Given the description of an element on the screen output the (x, y) to click on. 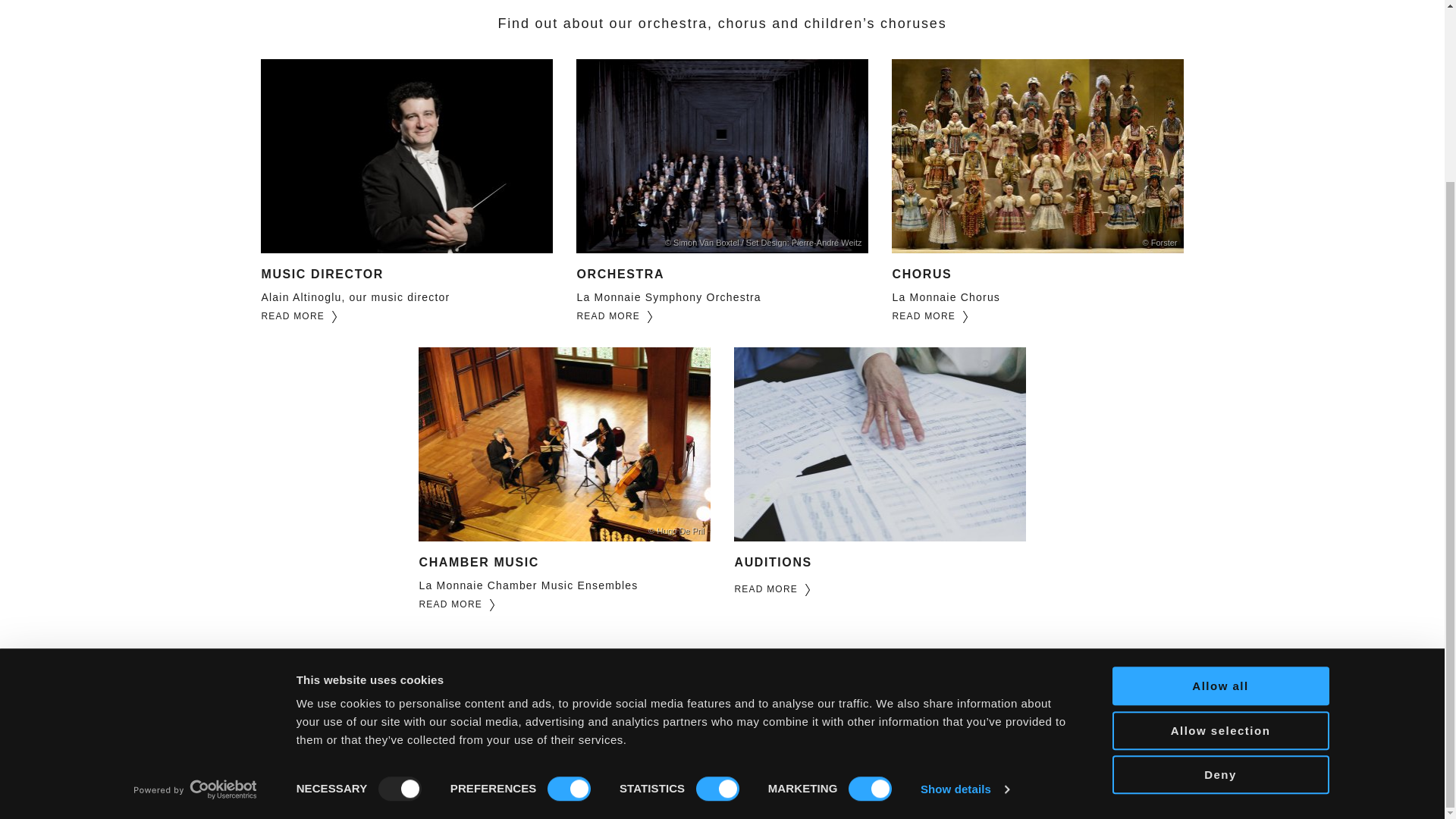
Show details (964, 566)
